Given the description of an element on the screen output the (x, y) to click on. 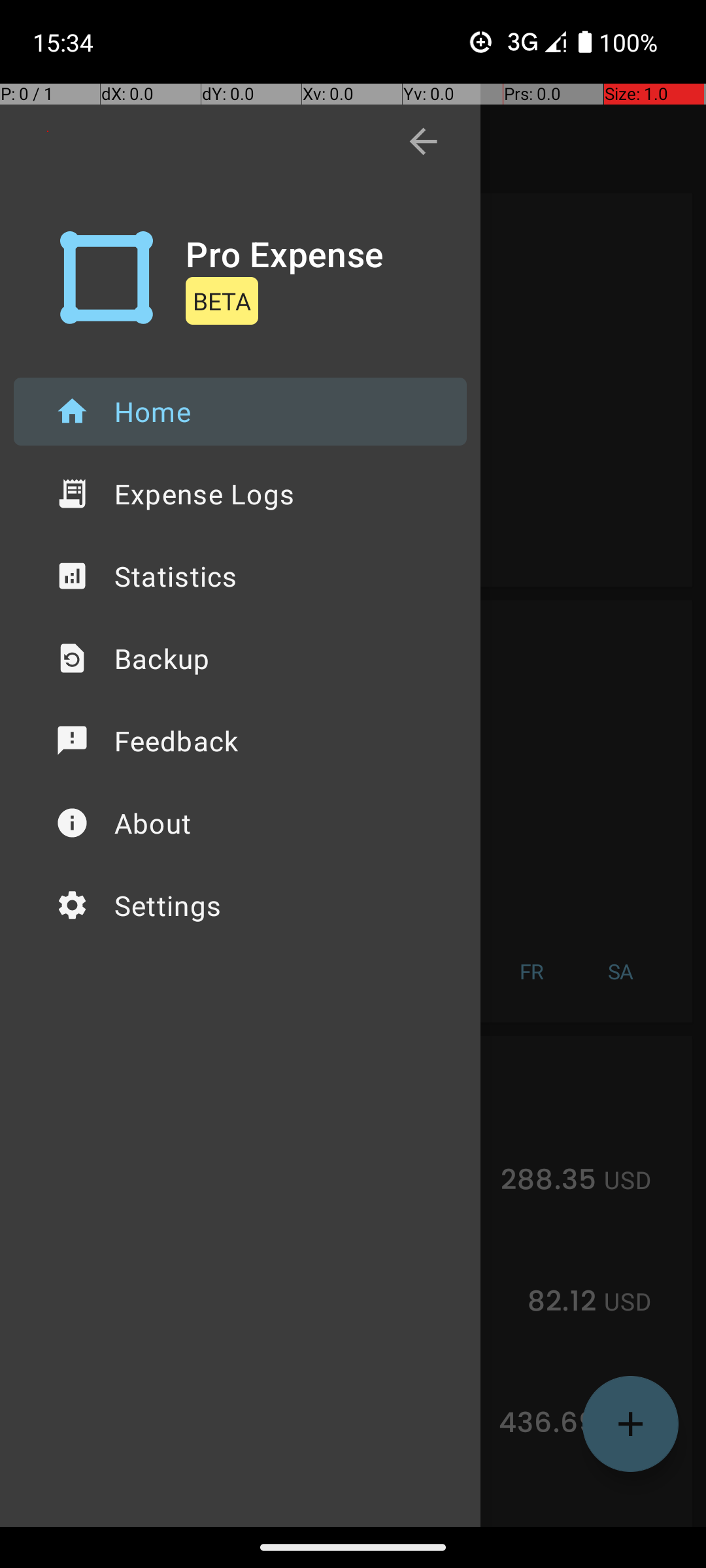
Pro Expense Element type: android.widget.TextView (284, 253)
BETA Element type: android.widget.TextView (221, 300)
Expense Logs Element type: android.widget.CheckedTextView (239, 493)
Statistics Element type: android.widget.CheckedTextView (239, 576)
Backup Element type: android.widget.CheckedTextView (239, 658)
Feedback Element type: android.widget.CheckedTextView (239, 740)
About Element type: android.widget.CheckedTextView (239, 823)
